Given the description of an element on the screen output the (x, y) to click on. 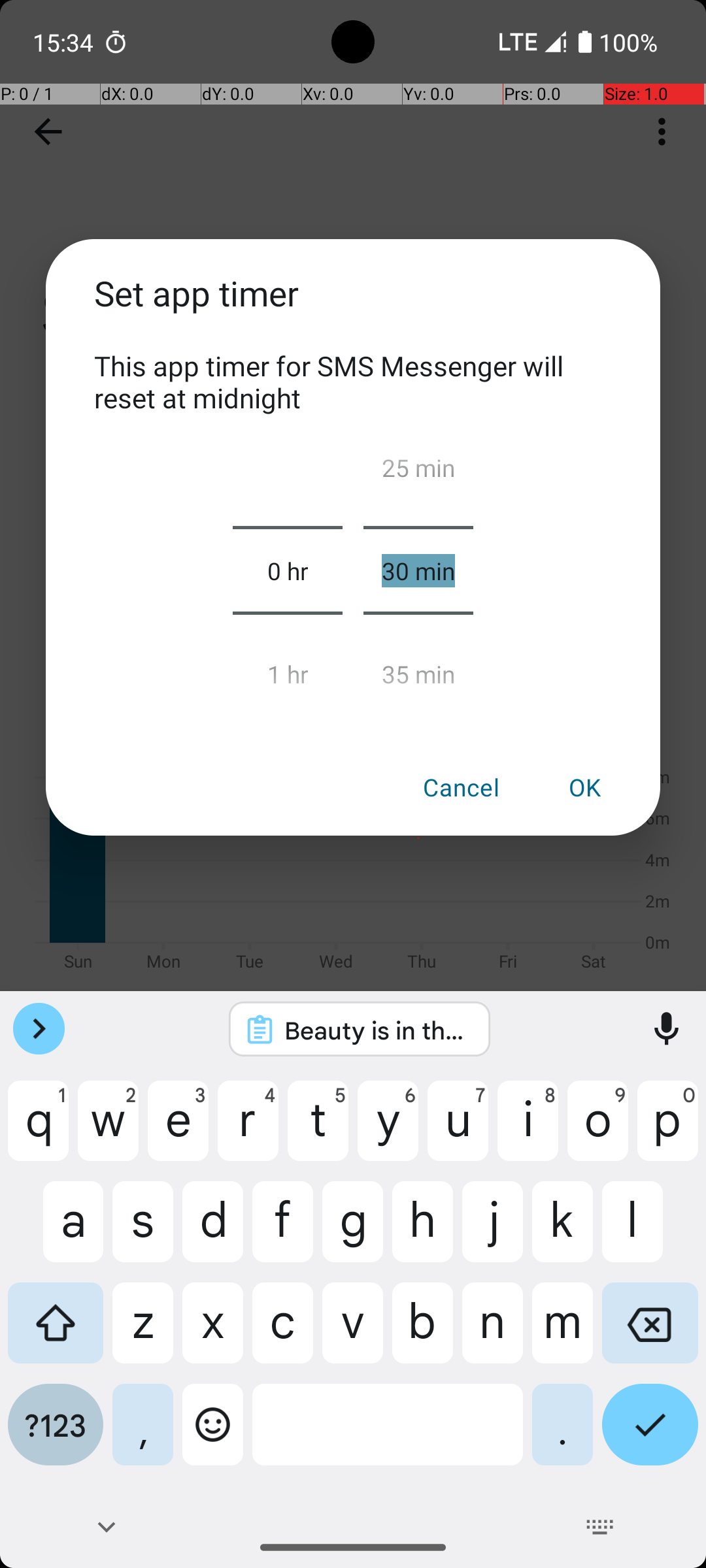
Set app timer Element type: android.widget.TextView (352, 307)
This app timer for SMS Messenger will reset at midnight Element type: android.widget.TextView (352, 381)
0 hr Element type: android.widget.EditText (287, 570)
1 hr Element type: android.widget.Button (287, 668)
25 min Element type: android.widget.Button (418, 472)
30 min Element type: android.widget.EditText (418, 570)
35 min Element type: android.widget.Button (418, 668)
